Given the description of an element on the screen output the (x, y) to click on. 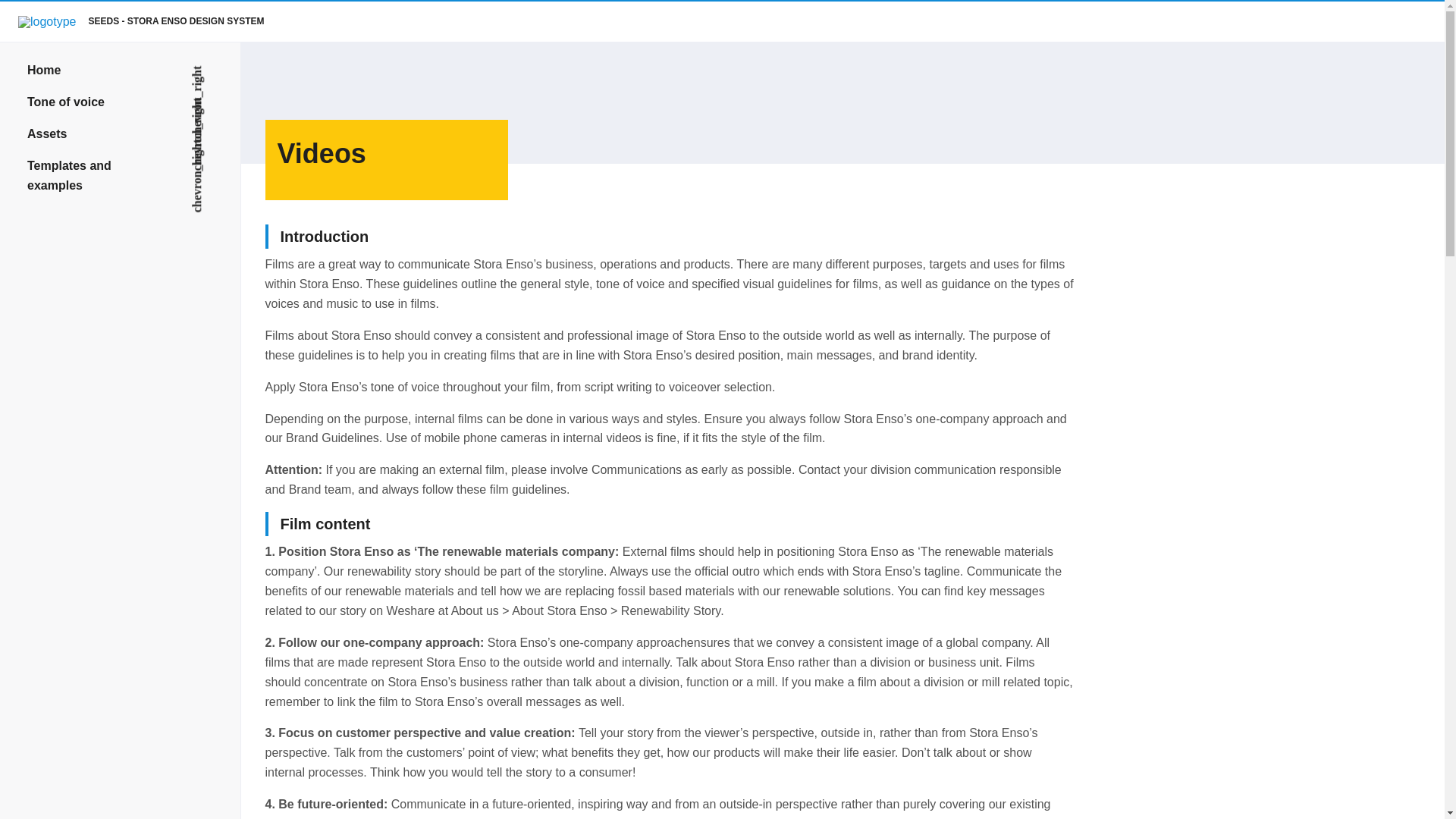
Home (120, 70)
